Given the description of an element on the screen output the (x, y) to click on. 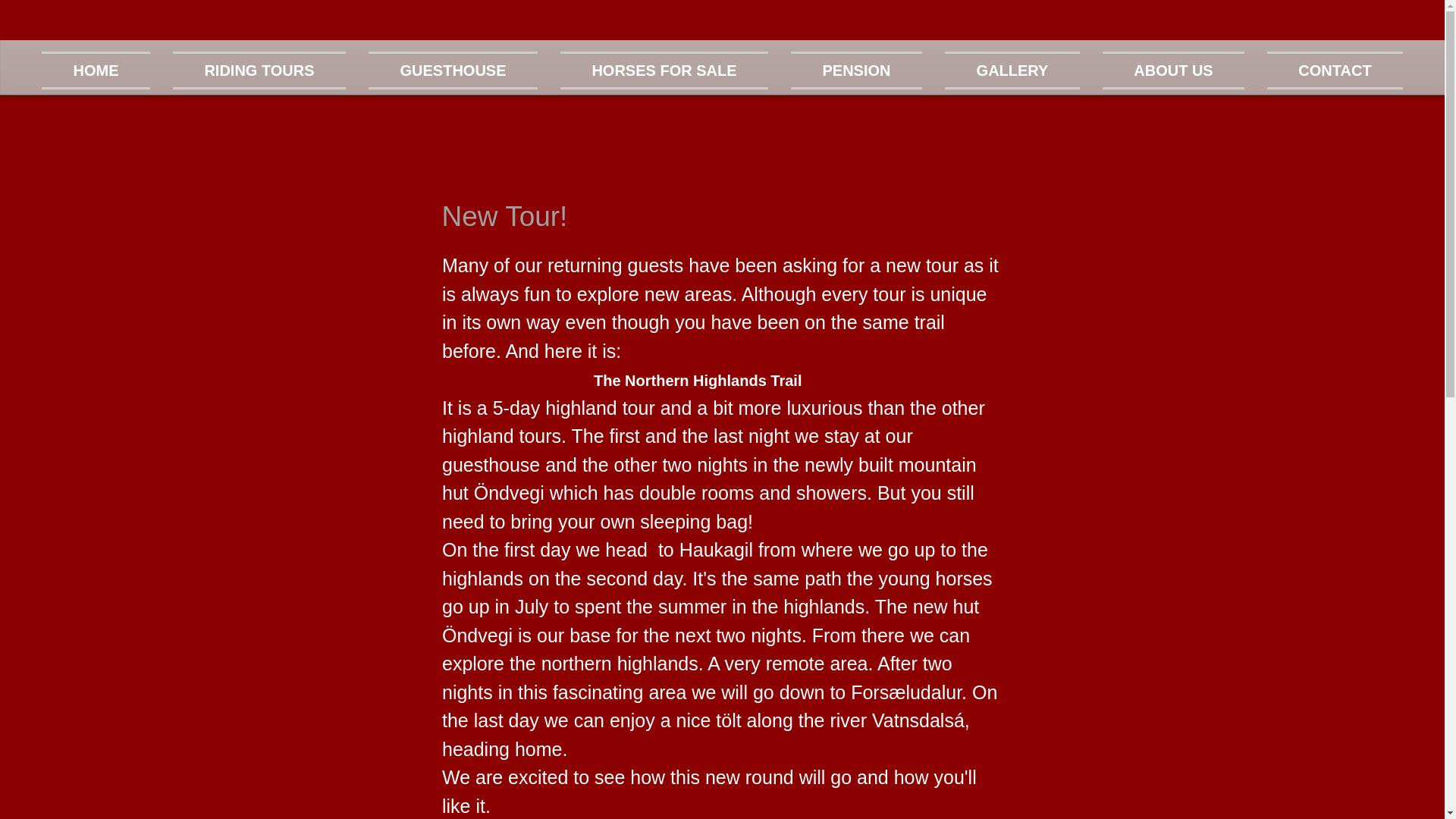
GALLERY (1011, 70)
PENSION (855, 70)
GUESTHOUSE (452, 70)
HOME (101, 70)
HORSES FOR SALE (663, 70)
CONTACT (1329, 70)
The Northern Highlands Trail (696, 378)
RIDING TOURS (258, 70)
ABOUT US (1172, 70)
